Given the description of an element on the screen output the (x, y) to click on. 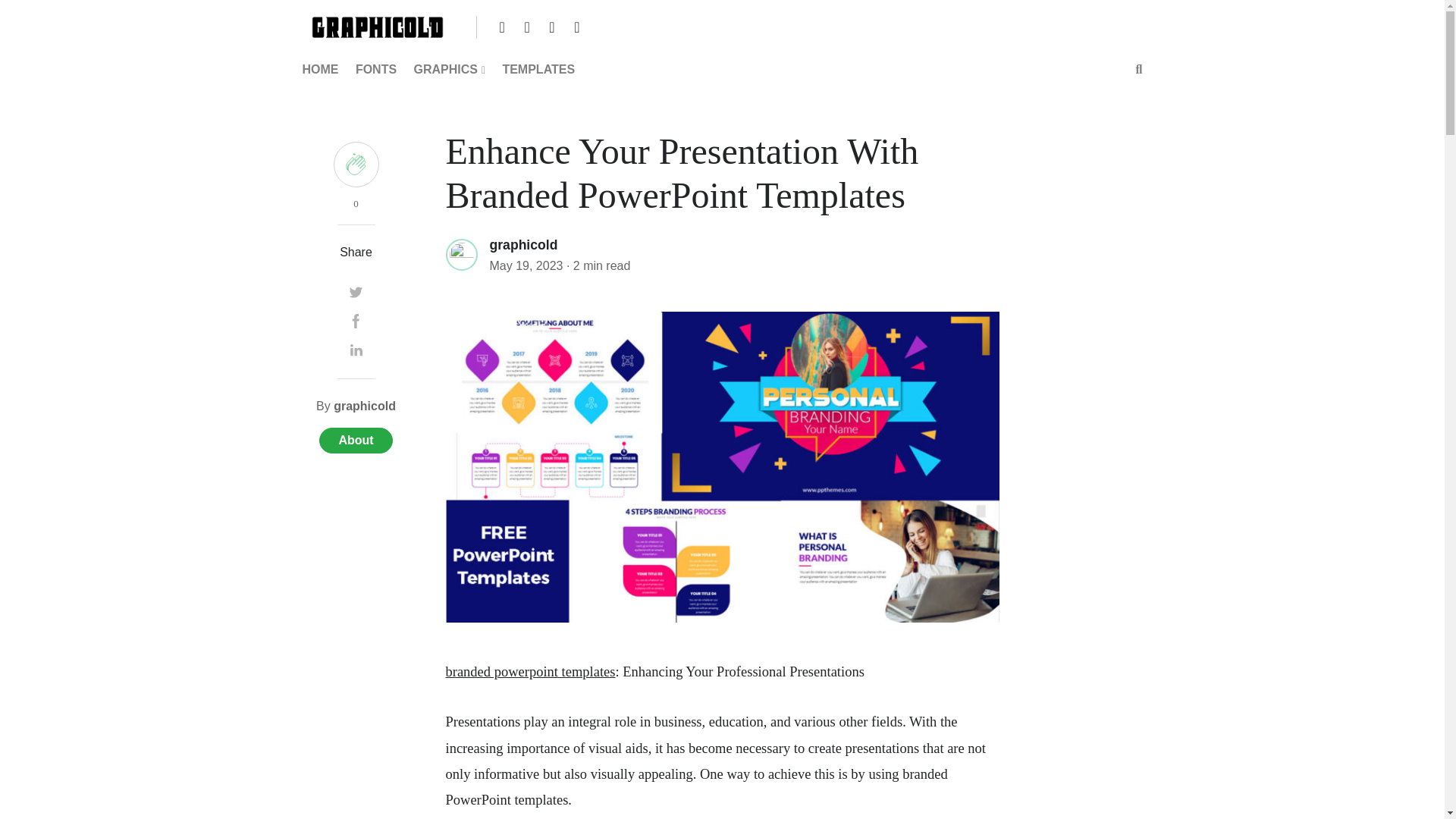
Posts by graphicold (364, 405)
FONTS (376, 69)
GRAPHICS (448, 69)
Posts by graphicold (523, 244)
graphicold (523, 243)
graphicold (364, 405)
About (354, 440)
TEMPLATES (538, 69)
branded powerpoint templates (530, 671)
HOME (323, 69)
